Given the description of an element on the screen output the (x, y) to click on. 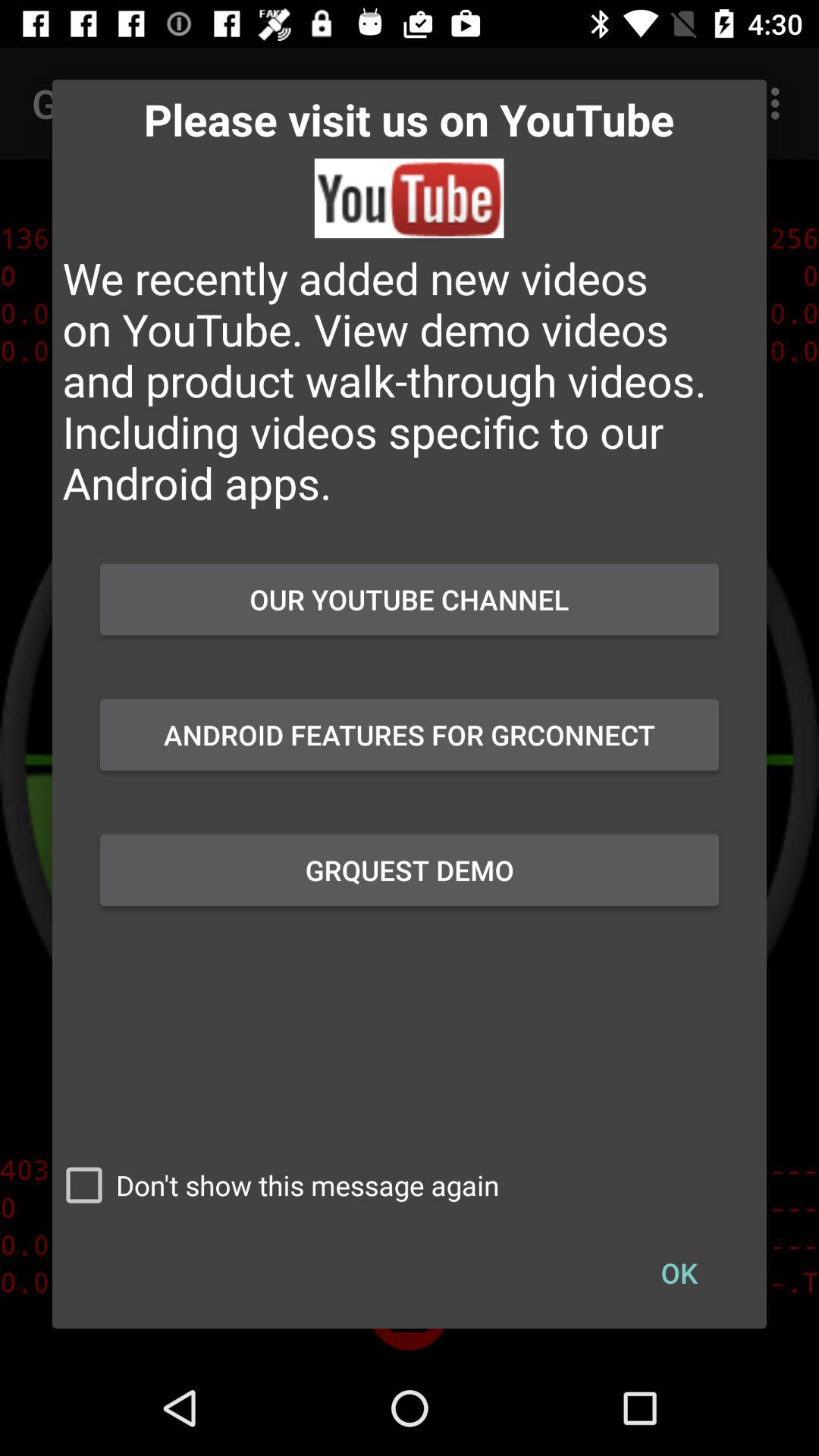
open don t show item (275, 1185)
